Given the description of an element on the screen output the (x, y) to click on. 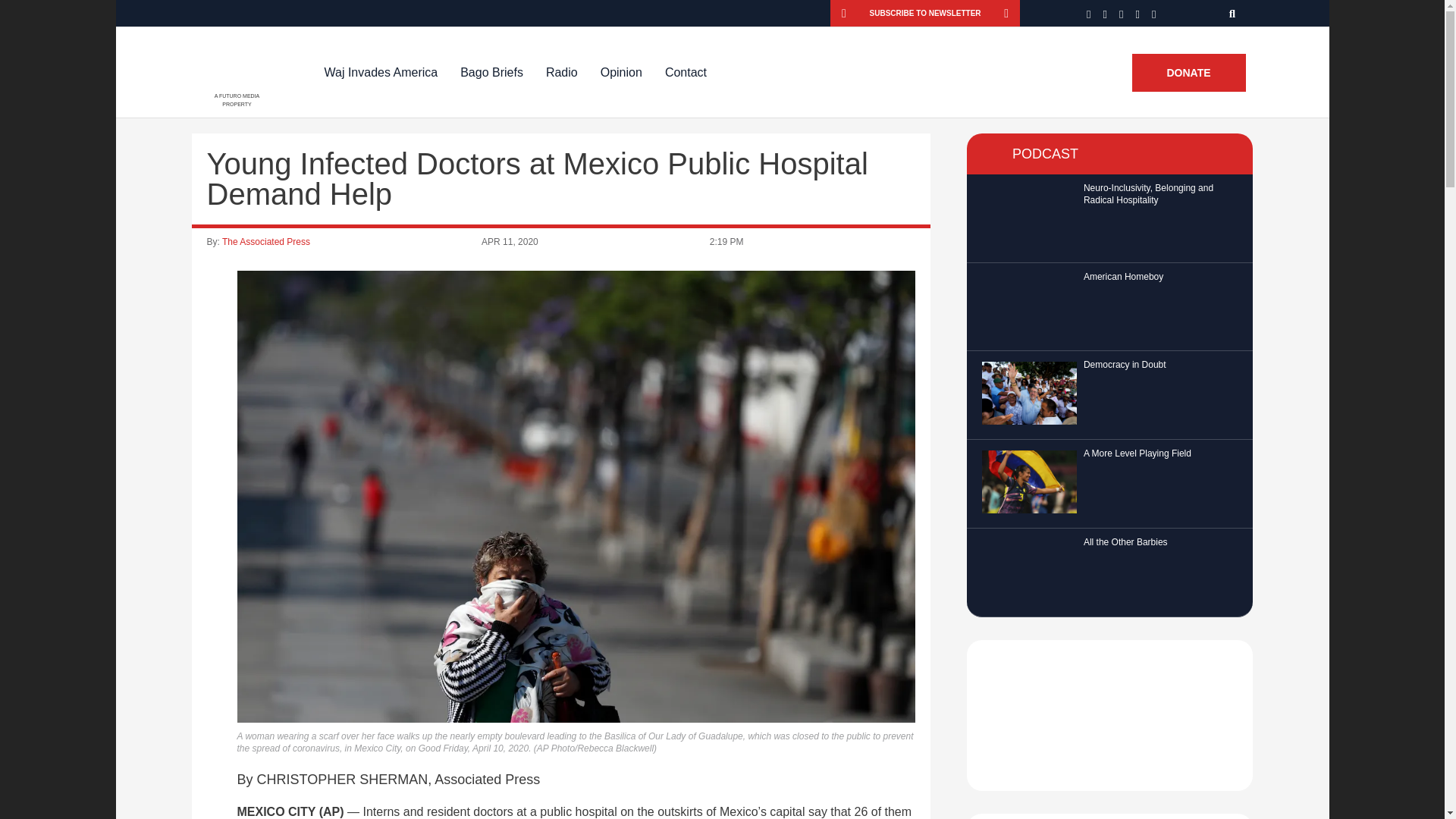
DONATE (1187, 72)
Subscribe to newsletter (924, 13)
Search (1233, 13)
Search (1233, 13)
The Associated Press (266, 241)
Search (1233, 13)
Bago Briefs (491, 72)
Waj Invades America (380, 72)
Posts by The Associated Press (266, 241)
Neuro-Inclusivity, Belonging and Radical Hospitality (1147, 193)
